Given the description of an element on the screen output the (x, y) to click on. 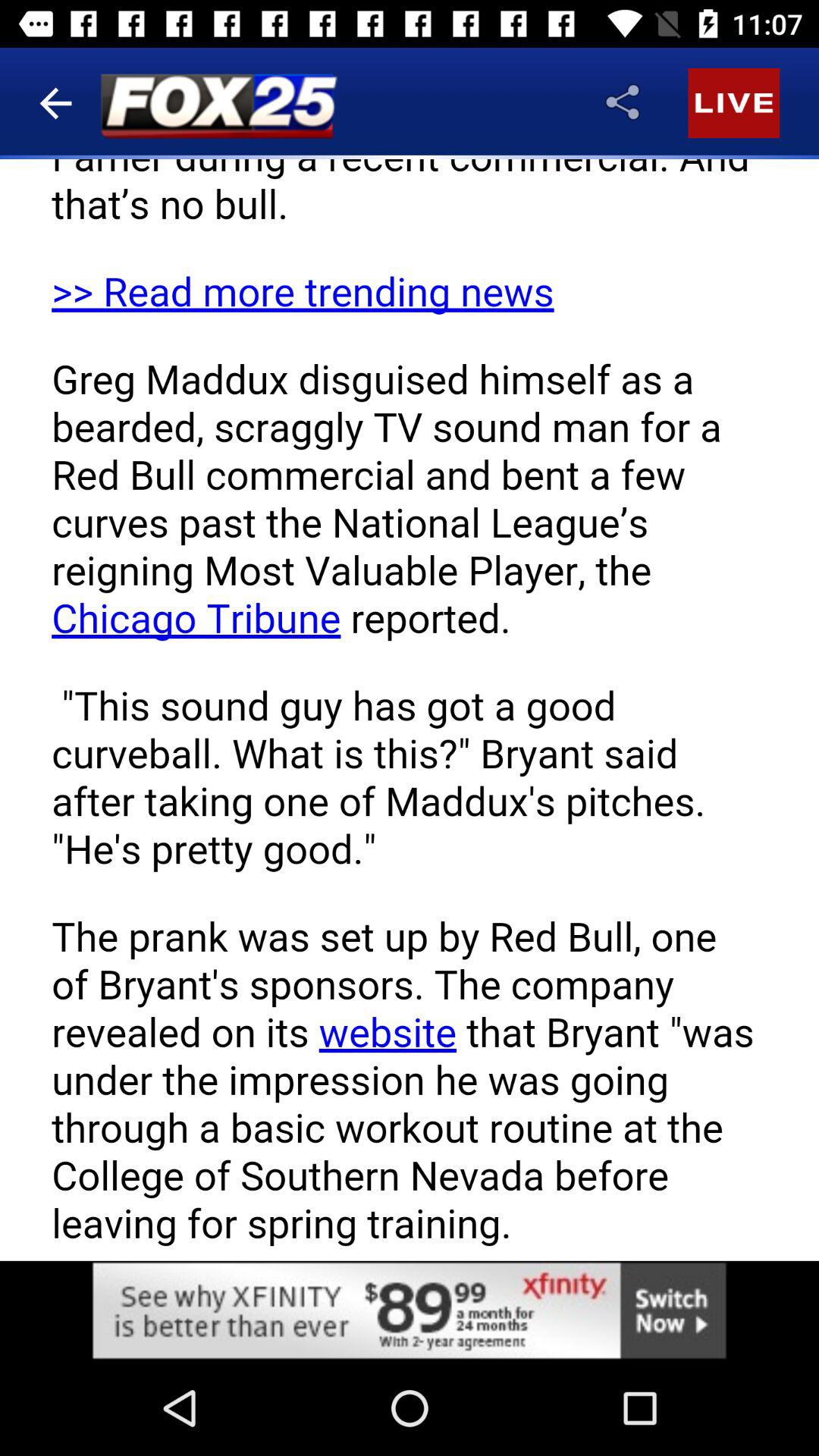
select the logo on the left to the share button of the web page (218, 105)
improper tagging (119, 868)
